Given the description of an element on the screen output the (x, y) to click on. 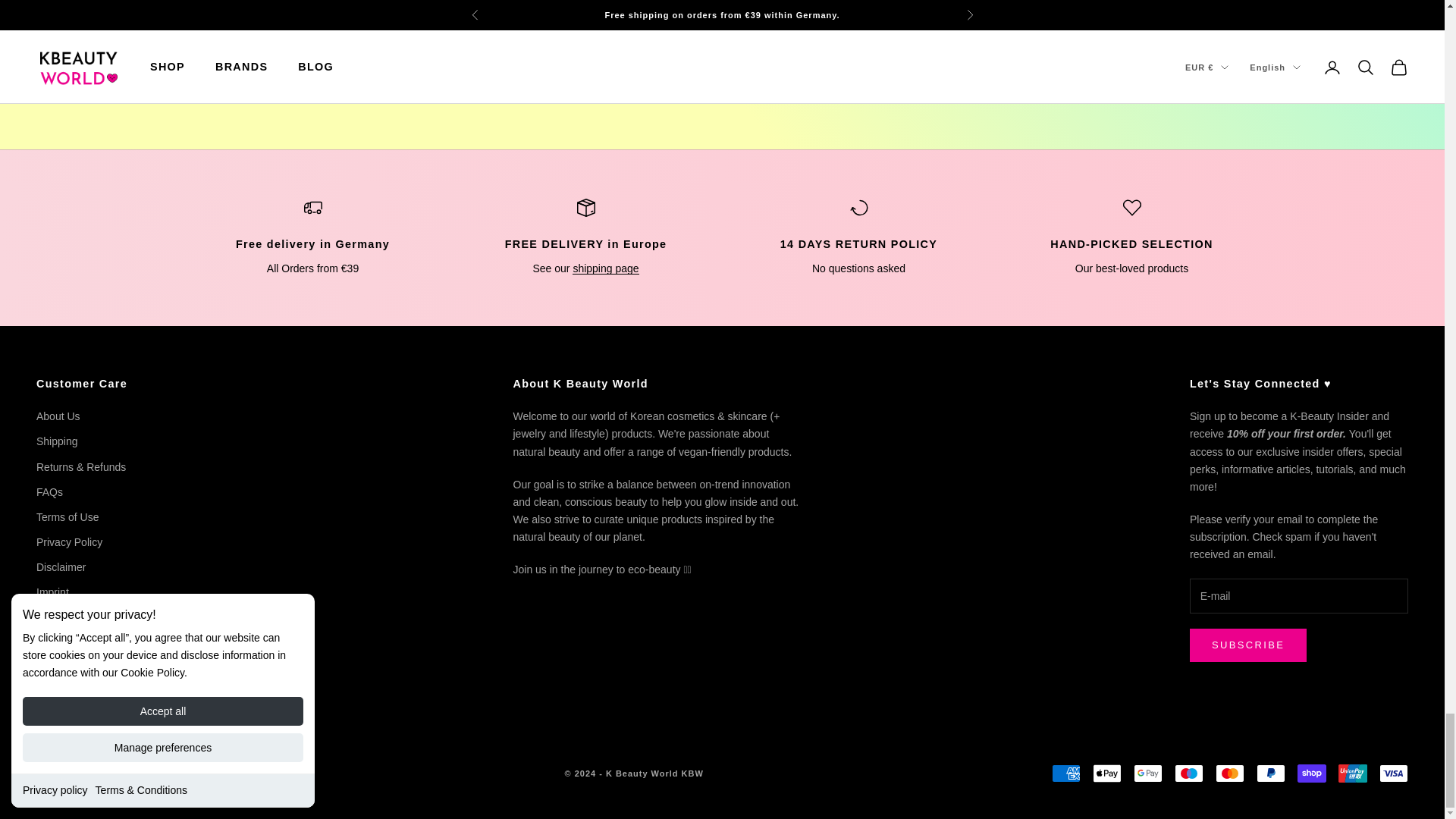
Shipping (605, 268)
